Given the description of an element on the screen output the (x, y) to click on. 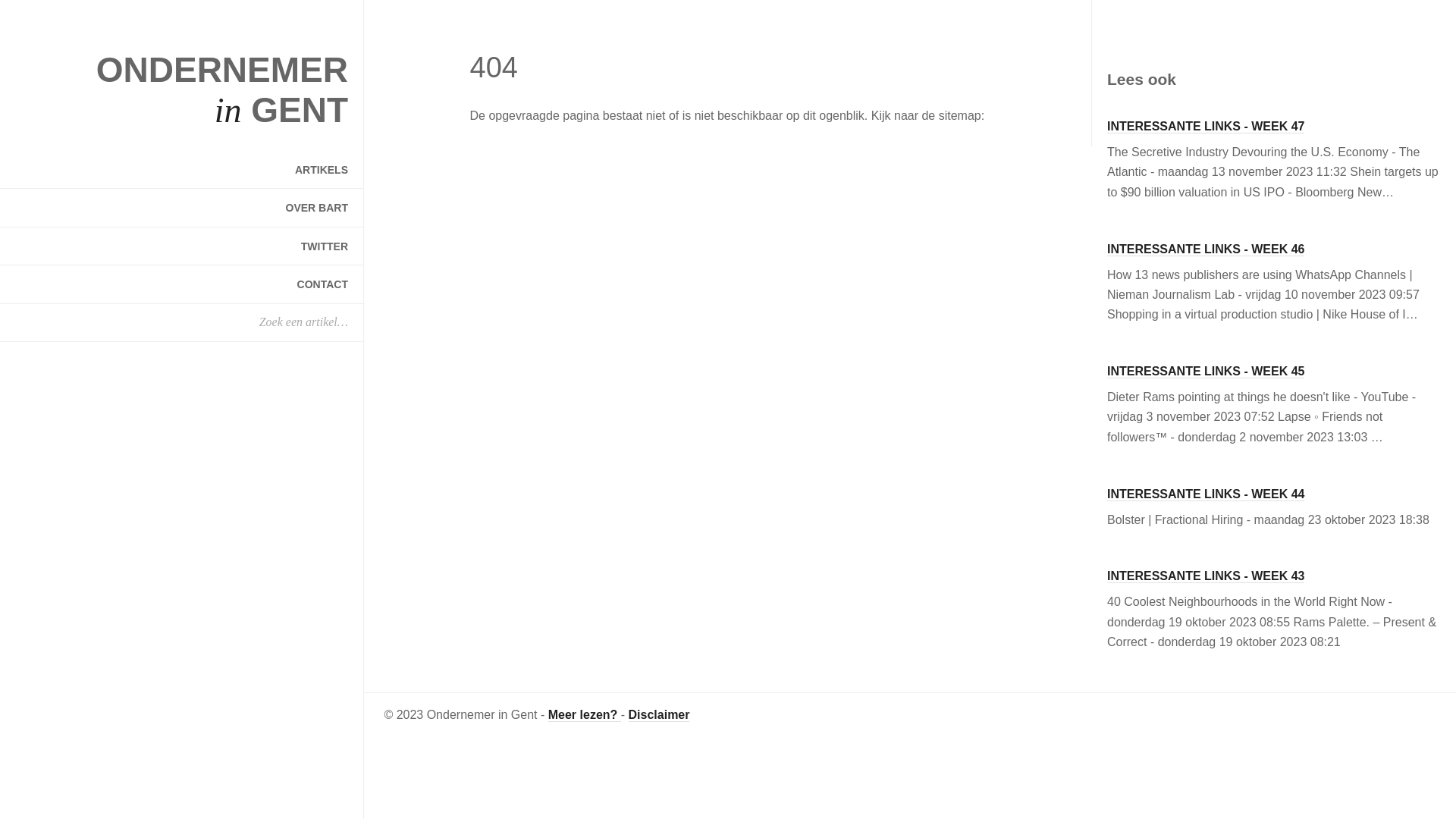
TWITTER Element type: text (181, 245)
Meer lezen? Element type: text (584, 714)
INTERESSANTE LINKS - WEEK 43 Element type: text (1205, 576)
ARTIKELS Element type: text (181, 169)
Zoek een artikel... Element type: text (63, 14)
OVER BART Element type: text (181, 206)
CONTACT Element type: text (181, 283)
INTERESSANTE LINKS - WEEK 46 Element type: text (1205, 249)
Disclaimer Element type: text (659, 714)
ONDERNEMER
in GENT Element type: text (222, 89)
INTERESSANTE LINKS - WEEK 47 Element type: text (1205, 126)
INTERESSANTE LINKS - WEEK 44 Element type: text (1205, 494)
INTERESSANTE LINKS - WEEK 45 Element type: text (1205, 371)
